Given the description of an element on the screen output the (x, y) to click on. 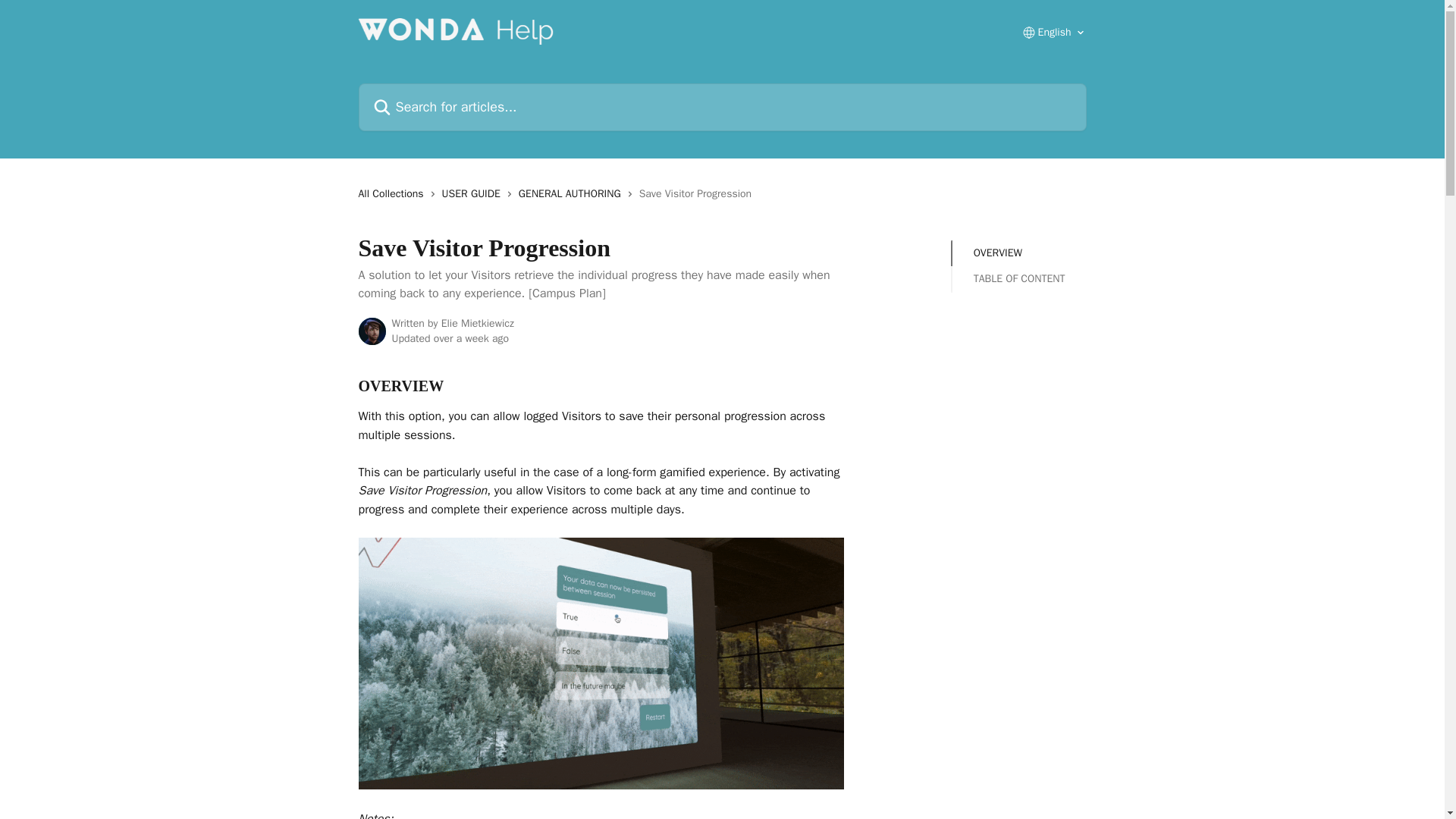
OVERVIEW (1019, 252)
USER GUIDE (474, 193)
GENERAL AUTHORING (572, 193)
All Collections (393, 193)
TABLE OF CONTENT (1019, 279)
